Given the description of an element on the screen output the (x, y) to click on. 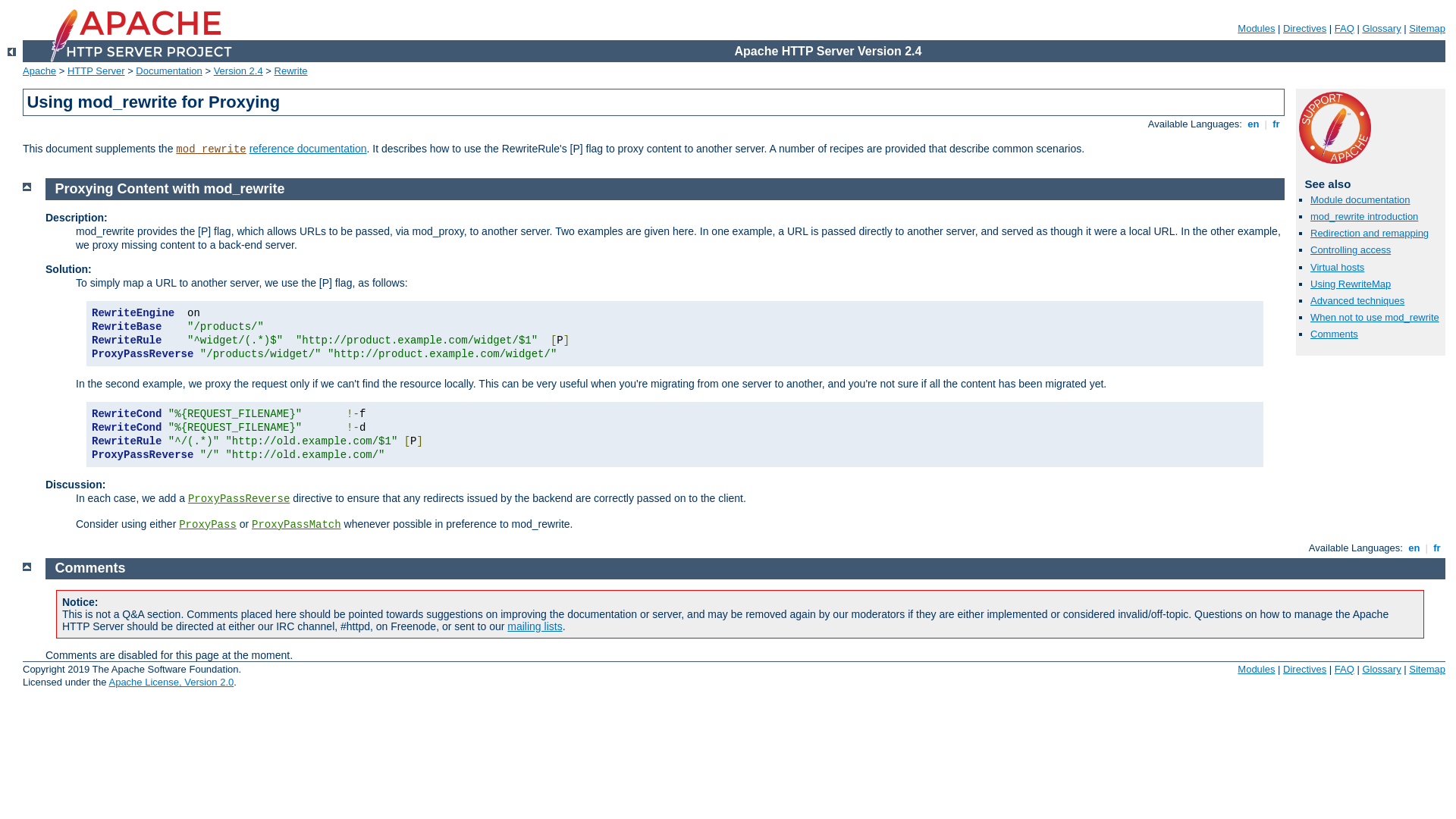
ProxyPass Element type: text (207, 524)
 en  Element type: text (1413, 547)
 fr  Element type: text (1436, 547)
Rewrite Element type: text (290, 70)
Version 2.4 Element type: text (238, 70)
Documentation Element type: text (168, 70)
Modules Element type: text (1255, 668)
Virtual hosts Element type: text (1337, 266)
mod_rewrite Element type: text (210, 149)
 fr  Element type: text (1276, 123)
Sitemap Element type: text (1426, 668)
Advanced techniques Element type: text (1357, 300)
Glossary Element type: text (1380, 668)
Comments Element type: text (1334, 333)
ProxyPassReverse Element type: text (238, 498)
mod_rewrite introduction Element type: text (1364, 216)
Redirection and remapping Element type: text (1369, 232)
HTTP Server Element type: text (96, 70)
reference documentation Element type: text (308, 148)
Apache License, Version 2.0 Element type: text (170, 681)
Using RewriteMap Element type: text (1350, 283)
 en  Element type: text (1253, 123)
mailing lists Element type: text (534, 626)
Controlling access Element type: text (1350, 249)
Module documentation Element type: text (1360, 199)
Modules Element type: text (1255, 28)
When not to use mod_rewrite Element type: text (1374, 317)
FAQ Element type: text (1344, 28)
Comments Element type: text (90, 567)
FAQ Element type: text (1344, 668)
Apache Element type: text (39, 70)
Directives Element type: text (1304, 28)
<- Element type: hover (11, 51)
ProxyPassMatch Element type: text (296, 524)
Sitemap Element type: text (1426, 28)
Directives Element type: text (1304, 668)
Glossary Element type: text (1380, 28)
Proxying Content with mod_rewrite Element type: text (170, 188)
